Given the description of an element on the screen output the (x, y) to click on. 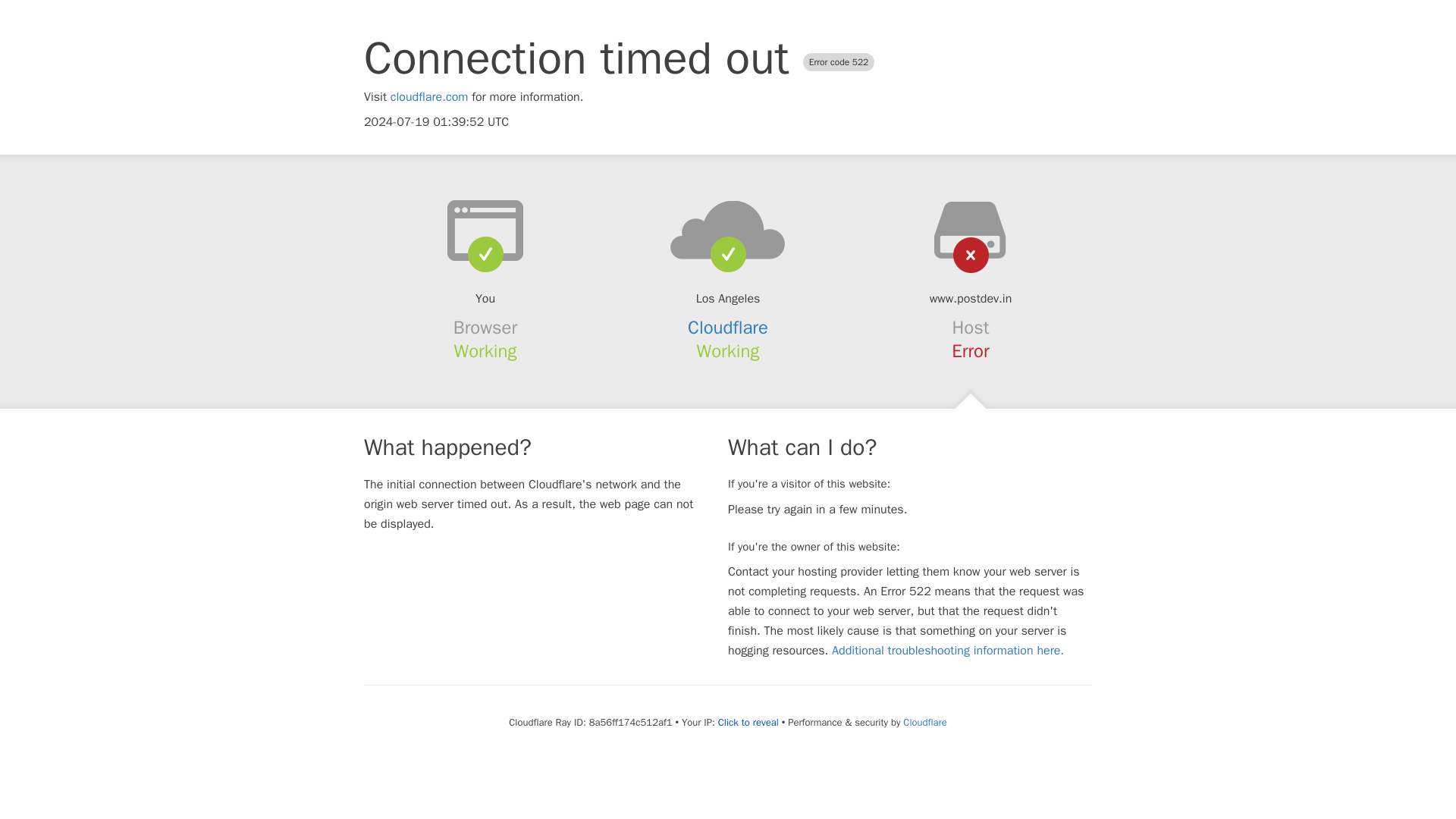
Cloudflare (727, 327)
cloudflare.com (429, 96)
Additional troubleshooting information here. (947, 650)
Cloudflare (924, 721)
Click to reveal (747, 722)
